Given the description of an element on the screen output the (x, y) to click on. 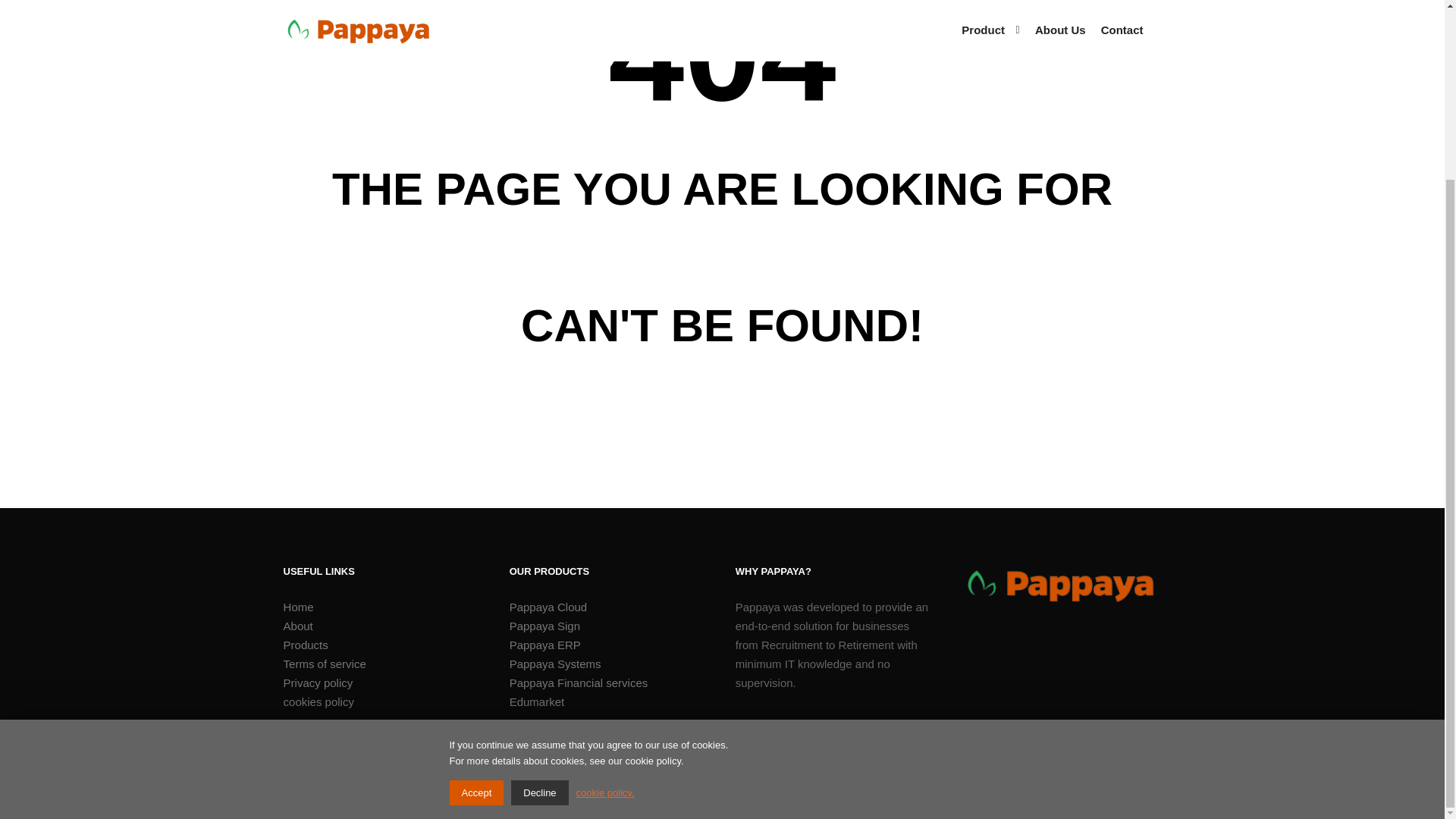
About (382, 625)
Pappaya Financial services (608, 682)
Pappaya Sign (608, 625)
cookie policy. (605, 573)
Terms of service (382, 663)
Pappaya Cloud (608, 606)
Pappaya Systems (608, 663)
cookies policy (382, 701)
Pappaya ERP (608, 644)
Accept (475, 573)
Privacy policy (382, 682)
Designed by pappaya incorpration (368, 797)
Edumarket (608, 701)
Home (382, 606)
Decline (539, 573)
